Given the description of an element on the screen output the (x, y) to click on. 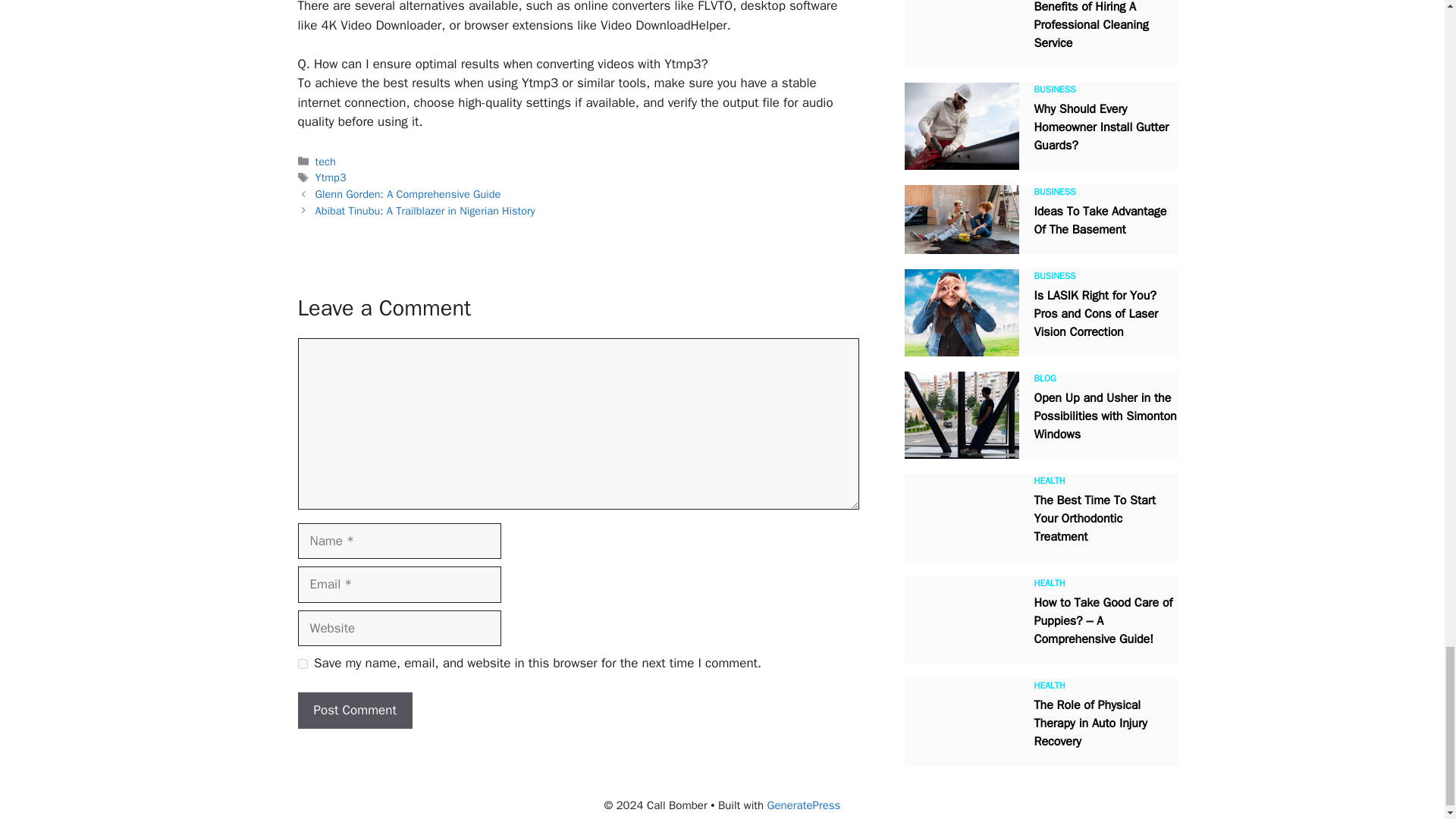
yes (302, 664)
tech (325, 161)
Ytmp3 (330, 177)
Post Comment (354, 710)
Glenn Gorden: A Comprehensive Guide (407, 193)
Post Comment (354, 710)
Abibat Tinubu: A Trailblazer in Nigerian History (425, 210)
